Given the description of an element on the screen output the (x, y) to click on. 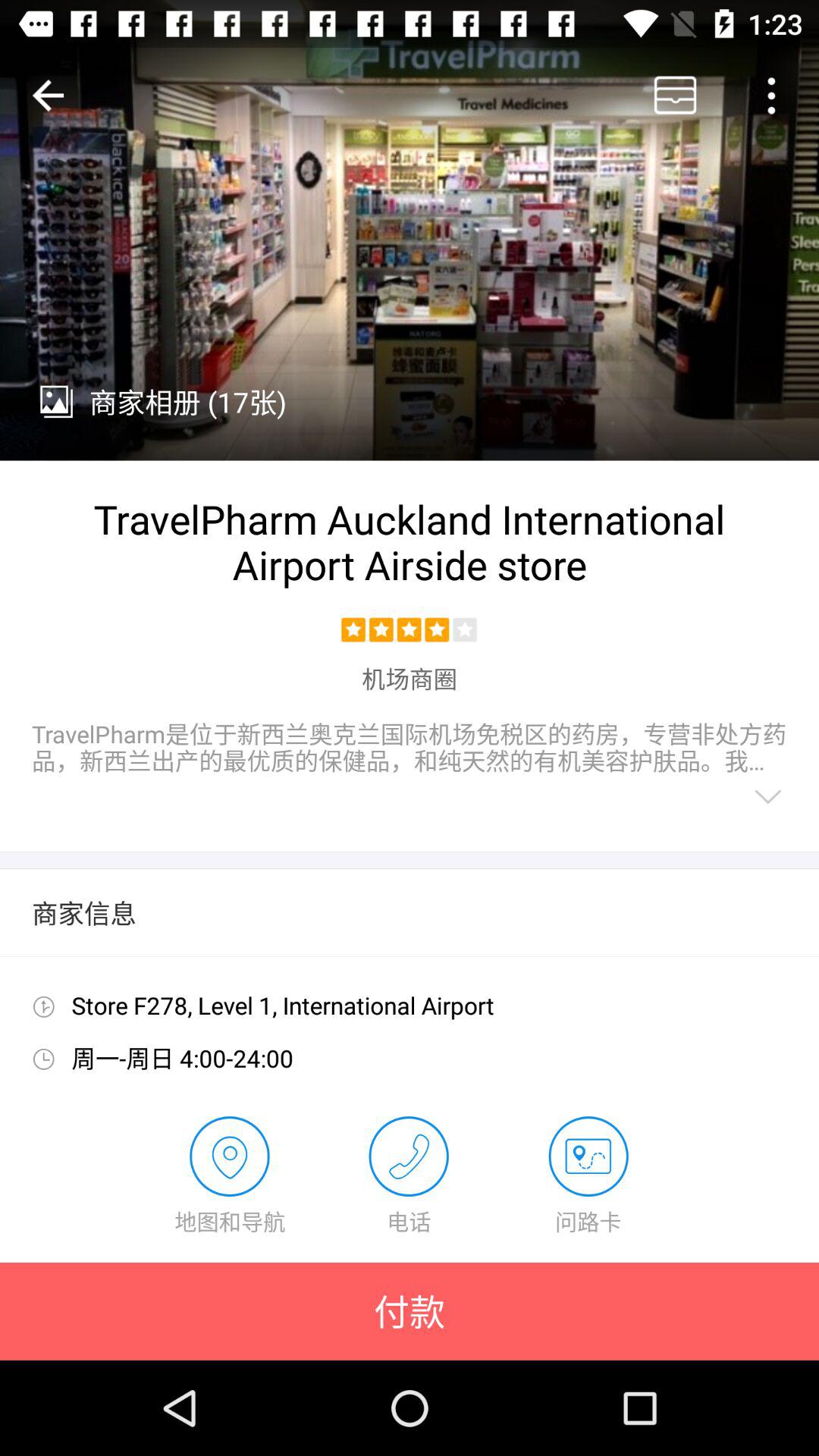
click on down arrow below the text (767, 796)
